Given the description of an element on the screen output the (x, y) to click on. 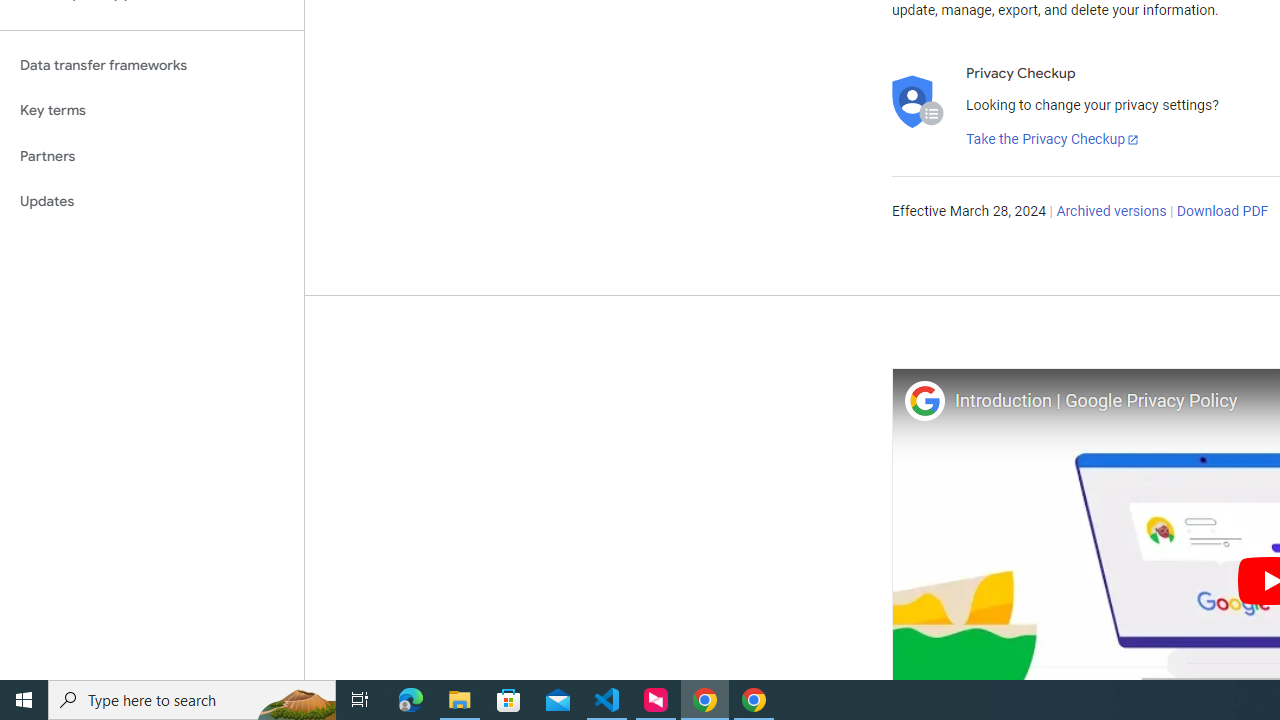
Data transfer frameworks (152, 65)
Take the Privacy Checkup (1053, 140)
Key terms (152, 110)
Photo image of Google (924, 400)
Download PDF (1222, 212)
Archived versions (1111, 212)
Partners (152, 156)
